Given the description of an element on the screen output the (x, y) to click on. 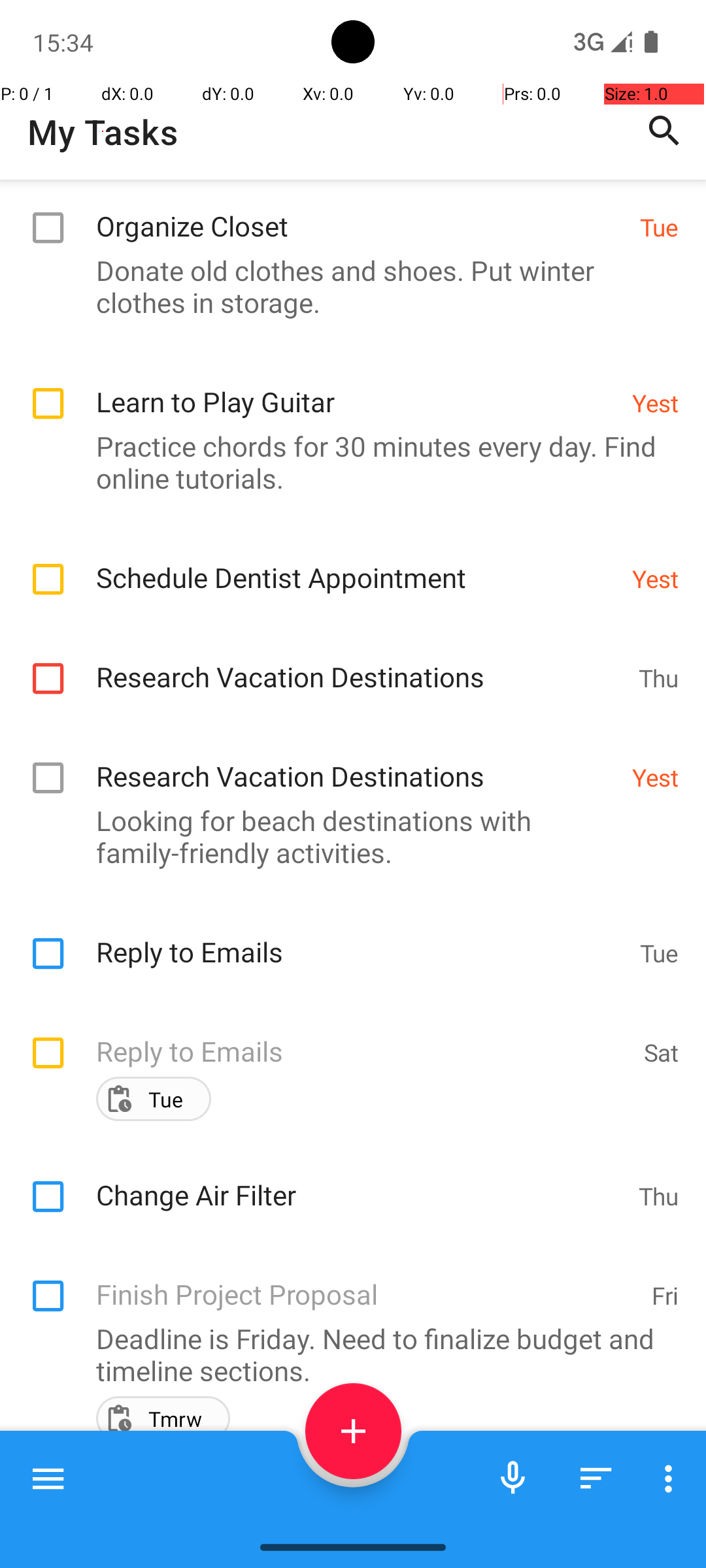
Organize Closet Element type: android.widget.TextView (361, 211)
Donate old clothes and shoes. Put winter clothes in storage. Element type: android.widget.TextView (346, 285)
Learn to Play Guitar Element type: android.widget.TextView (357, 387)
Practice chords for 30 minutes every day. Find online tutorials. Element type: android.widget.TextView (346, 461)
Yest Element type: android.widget.TextView (655, 402)
Schedule Dentist Appointment Element type: android.widget.TextView (357, 563)
Research Vacation Destinations Element type: android.widget.TextView (360, 662)
Looking for beach destinations with family-friendly activities. Element type: android.widget.TextView (346, 835)
Reply to Emails Element type: android.widget.TextView (361, 937)
Sat Element type: android.widget.TextView (661, 1051)
Change Air Filter Element type: android.widget.TextView (360, 1180)
Finish Project Proposal Element type: android.widget.TextView (367, 1279)
Deadline is Friday. Need to finalize budget and timeline sections. Element type: android.widget.TextView (346, 1353)
Water Plants Element type: android.widget.TextView (363, 1497)
Tmrw Element type: android.widget.TextView (174, 1418)
